Given the description of an element on the screen output the (x, y) to click on. 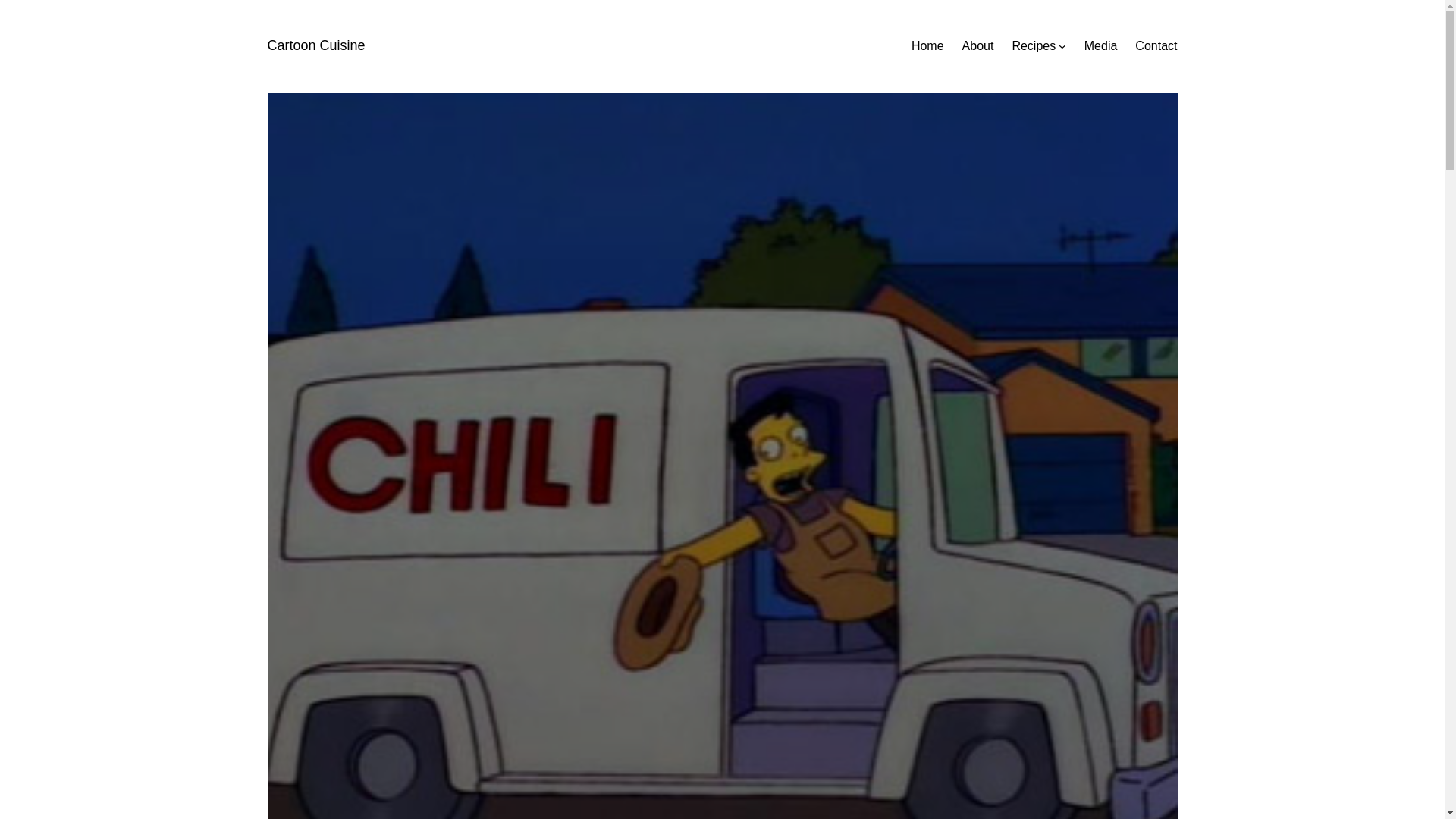
Recipes (1033, 46)
Home (927, 46)
Media (1101, 46)
About (978, 46)
Contact (1155, 46)
Cartoon Cuisine (315, 45)
